Given the description of an element on the screen output the (x, y) to click on. 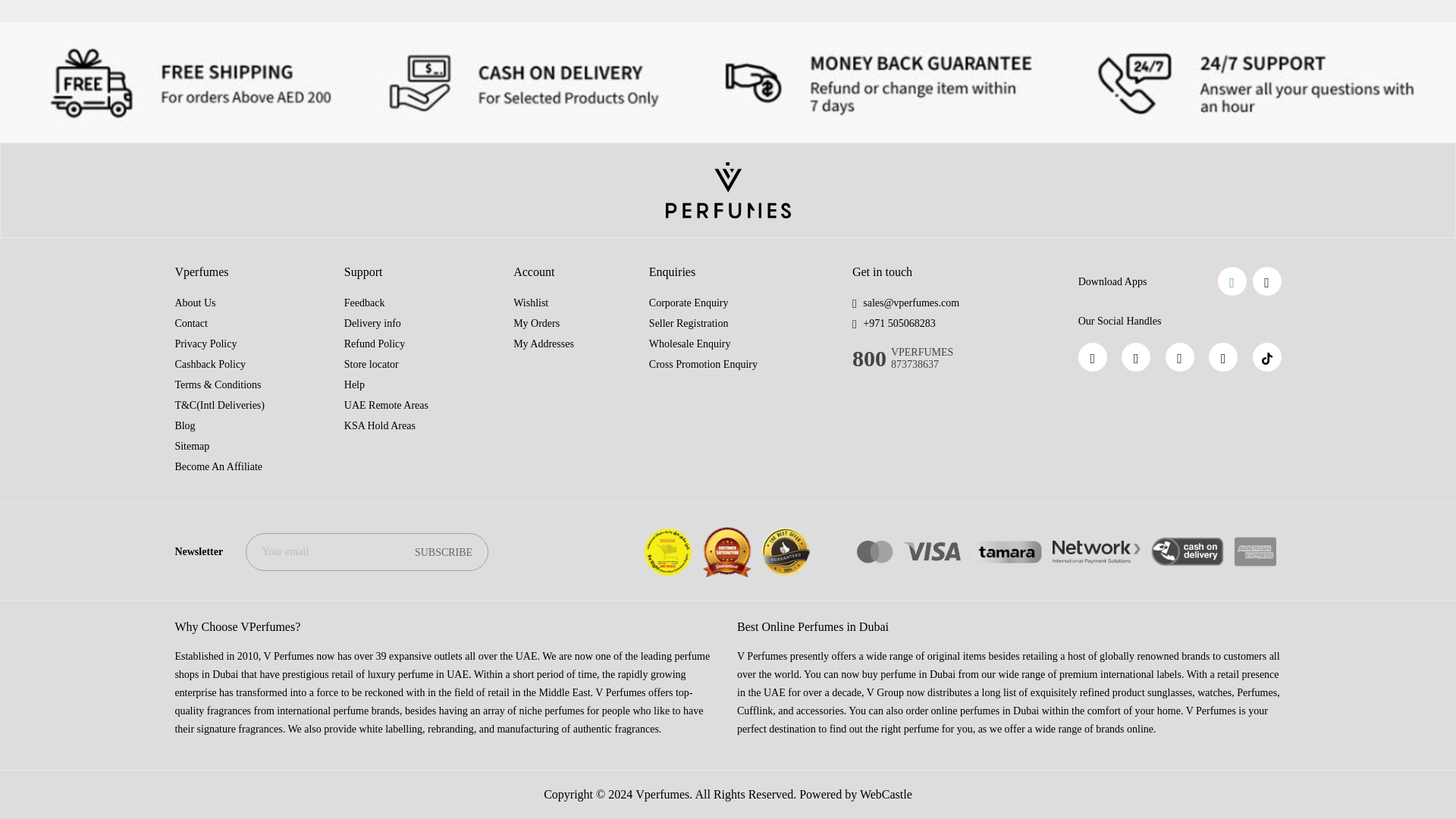
Folow us on Whatsapp (1135, 357)
Folow us on Twitter (1222, 357)
Folow us on Instagram (1179, 357)
Folow us on Tiktok (1266, 357)
Folow us on Facebook (1092, 357)
